Given the description of an element on the screen output the (x, y) to click on. 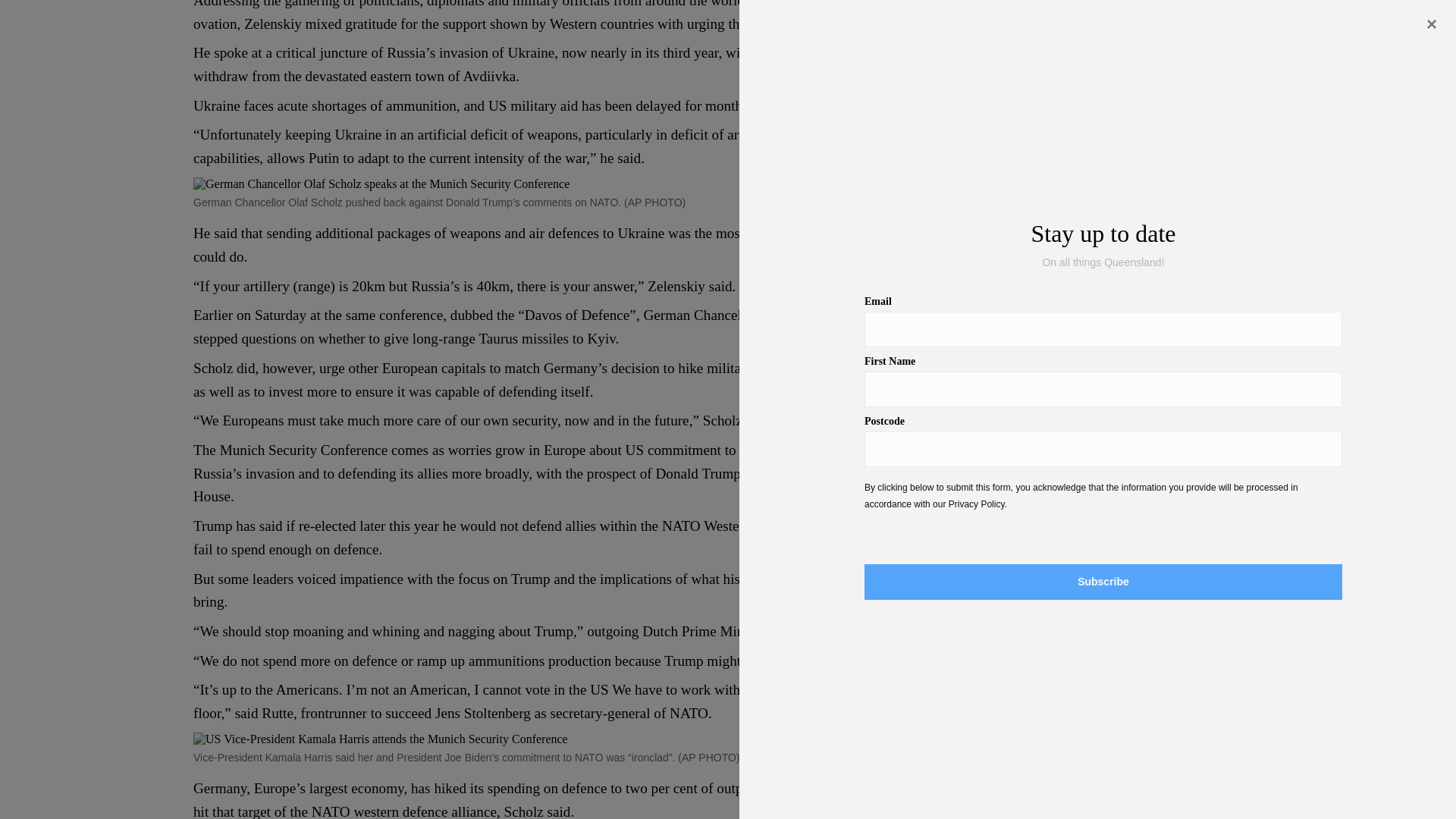
Advertisement (1090, 56)
